Given the description of an element on the screen output the (x, y) to click on. 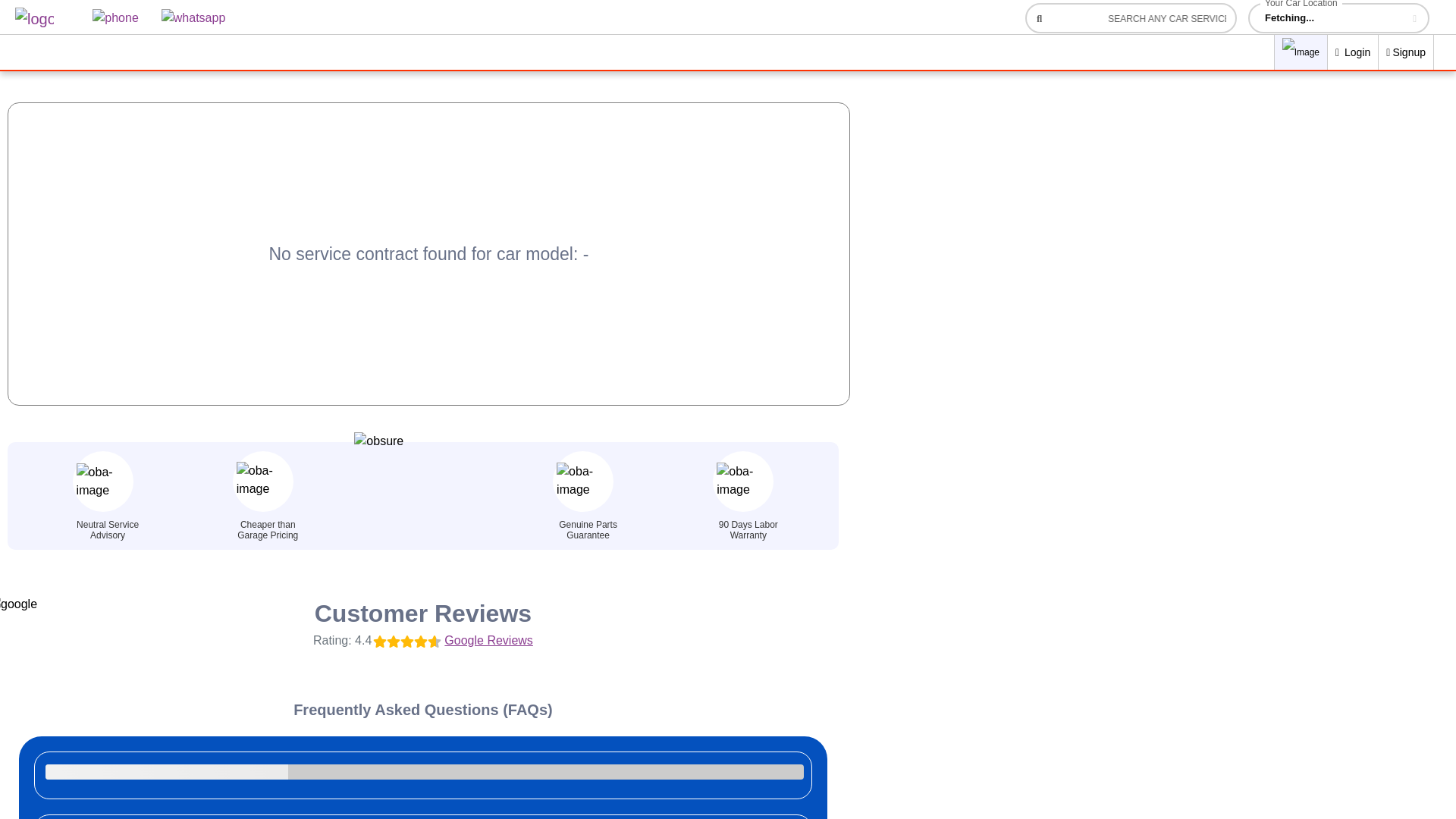
star (406, 641)
star (420, 641)
star (379, 641)
Google Reviews (487, 640)
star (434, 641)
star (393, 641)
Signup (1405, 52)
Login (1352, 52)
